Given the description of an element on the screen output the (x, y) to click on. 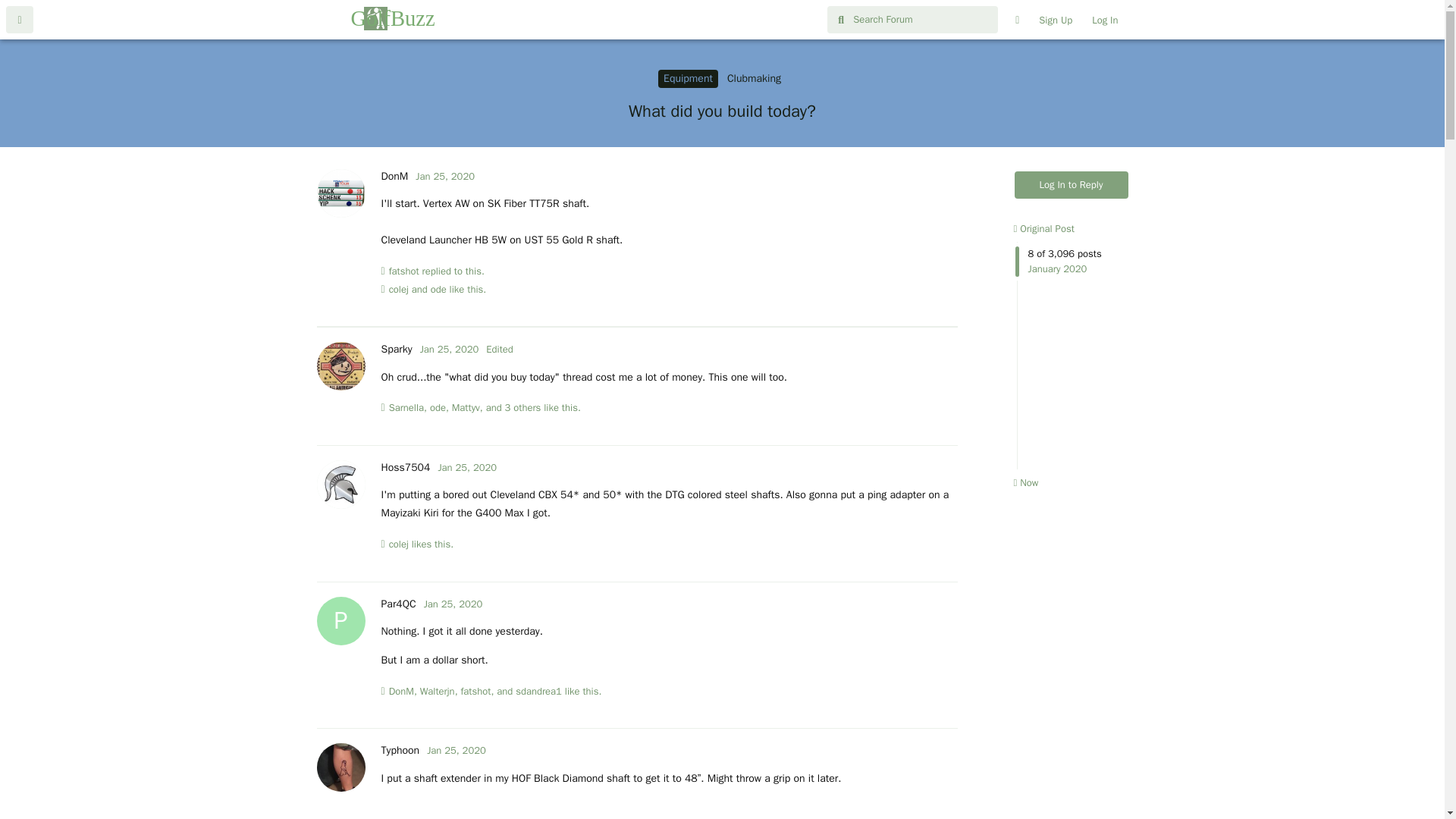
Saturday, January 25, 2020 8:28 AM (467, 467)
Typhoon (399, 749)
Walterjn (437, 691)
Log In to Reply (1071, 185)
Log In (1103, 19)
Saturday, January 25, 2020 6:58 AM (444, 175)
fatshot (475, 691)
Jan 25, 2020 (444, 175)
DonM (393, 175)
Build your own stuff? Learn and share knowledge with others. (754, 78)
Clubmaking (754, 78)
Original Post (1043, 228)
Jan 25, 2020 (467, 467)
colej (398, 544)
DonM (400, 691)
